Given the description of an element on the screen output the (x, y) to click on. 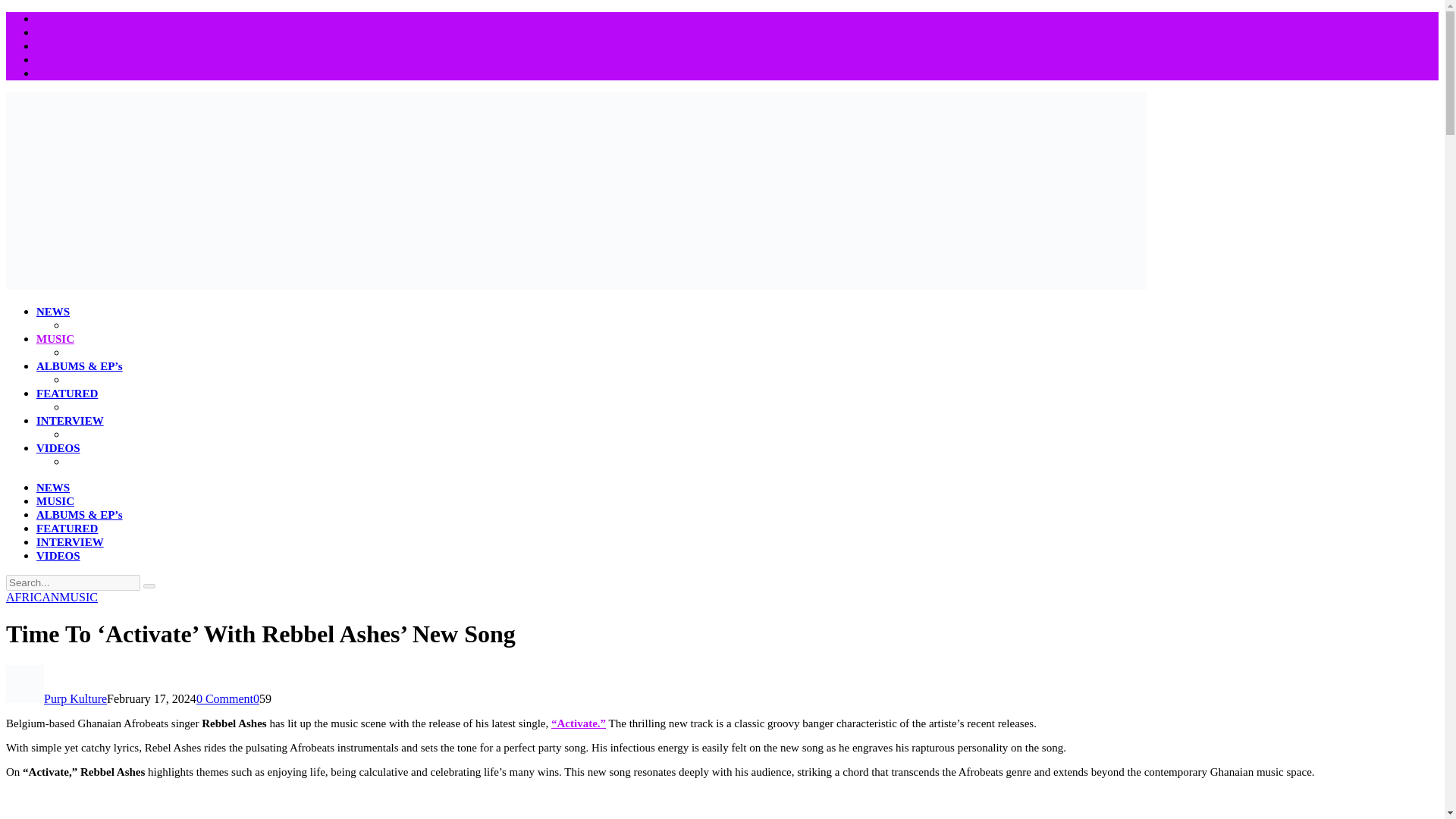
0 Comment (224, 698)
VIDEOS (58, 448)
NEWS (52, 311)
VIDEOS (58, 555)
Like (256, 698)
FEATURED (66, 393)
NEWS (52, 487)
AFRICAN (32, 596)
Posts by Purp Kulture (74, 698)
Purp Kulture (74, 698)
MUSIC (55, 500)
INTERVIEW (69, 420)
MUSIC (55, 338)
MUSIC (78, 596)
INTERVIEW (69, 541)
